Given the description of an element on the screen output the (x, y) to click on. 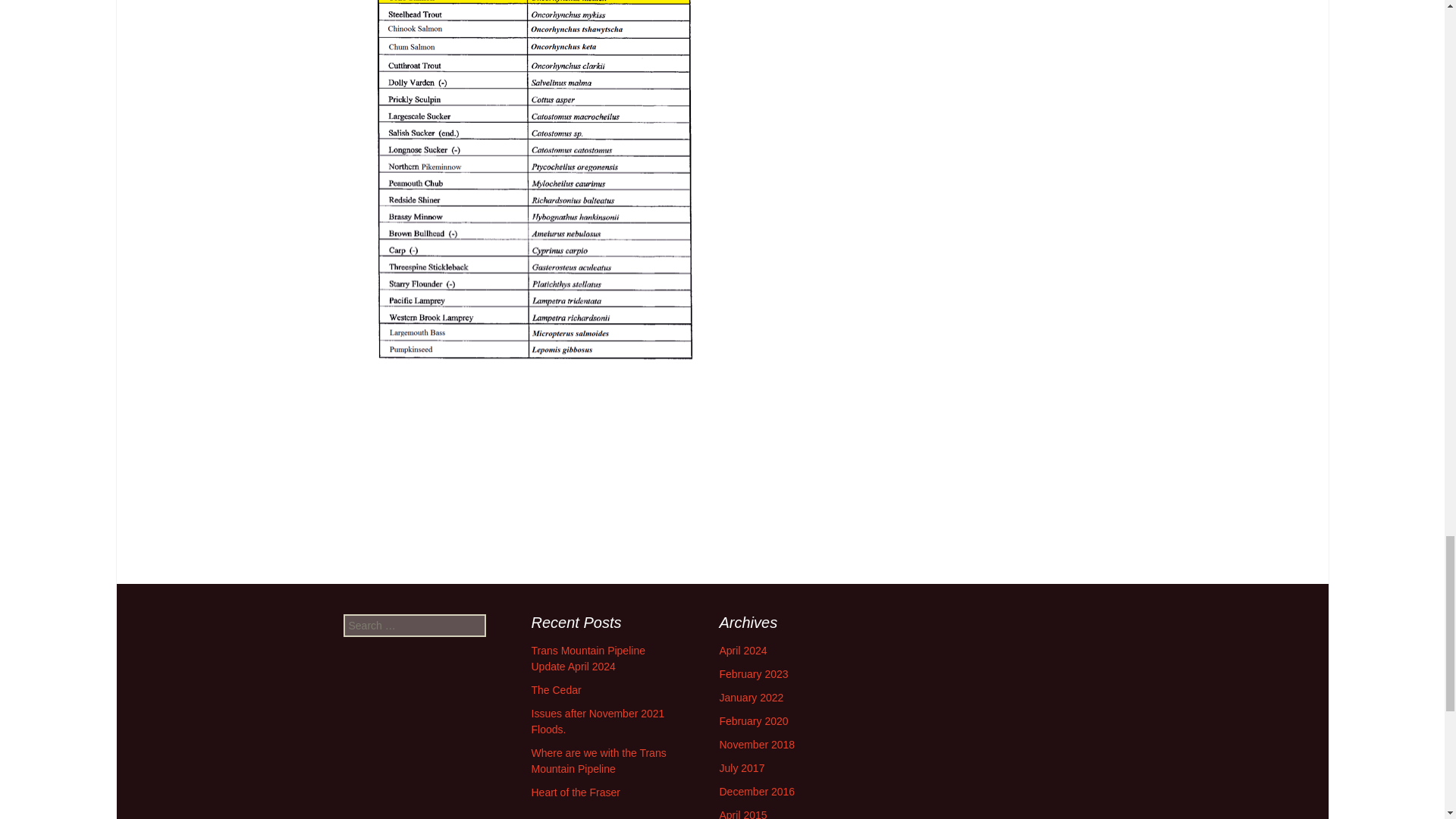
Trans Mountain Pipeline Update April 2024 (588, 658)
